Given the description of an element on the screen output the (x, y) to click on. 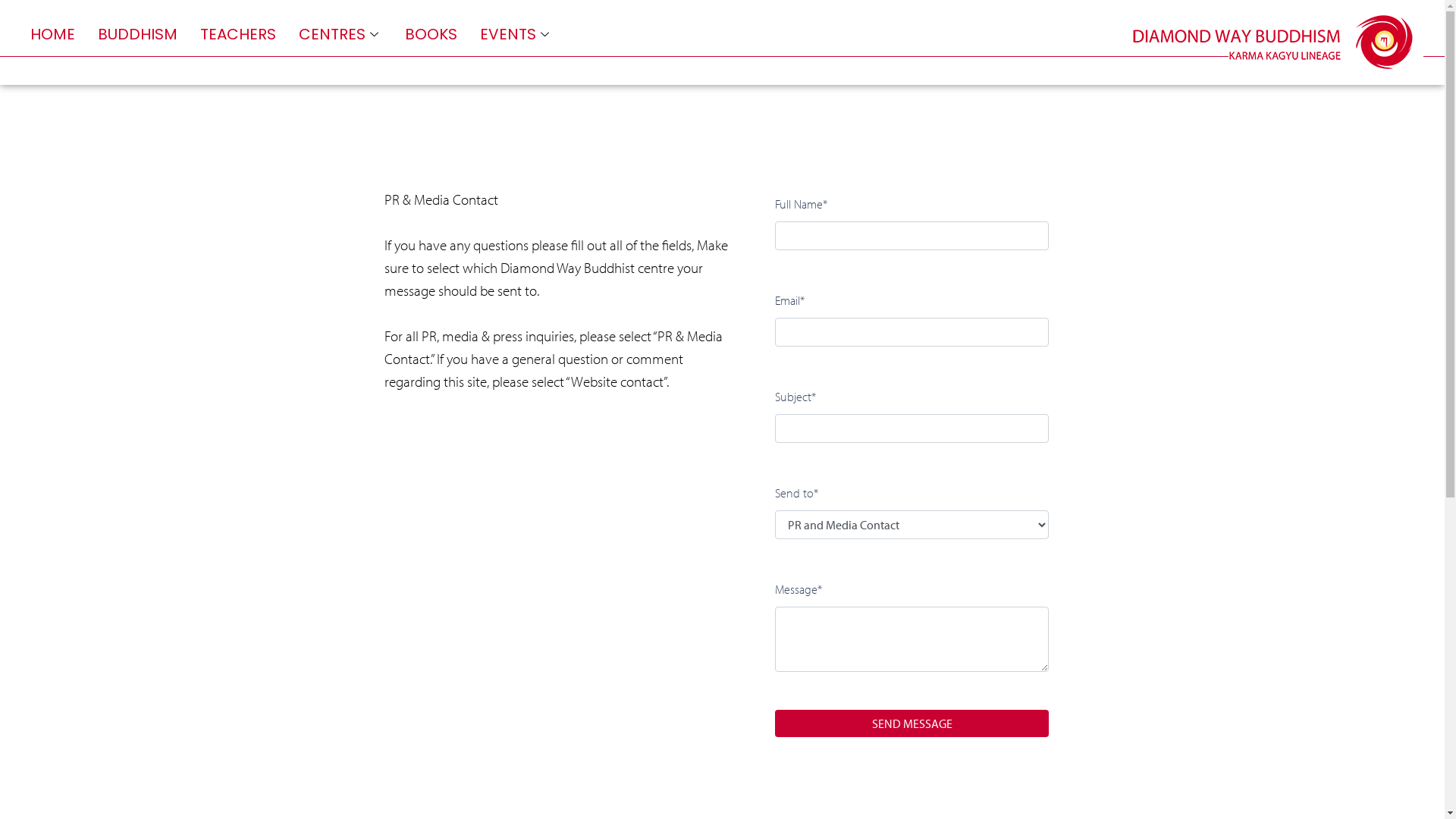
EVENTS Element type: text (516, 34)
BOOKS Element type: text (430, 34)
HOME Element type: text (52, 34)
TEACHERS Element type: text (237, 34)
CENTRES Element type: text (340, 34)
BUDDHISM Element type: text (137, 34)
Send Message Element type: text (911, 723)
